Given the description of an element on the screen output the (x, y) to click on. 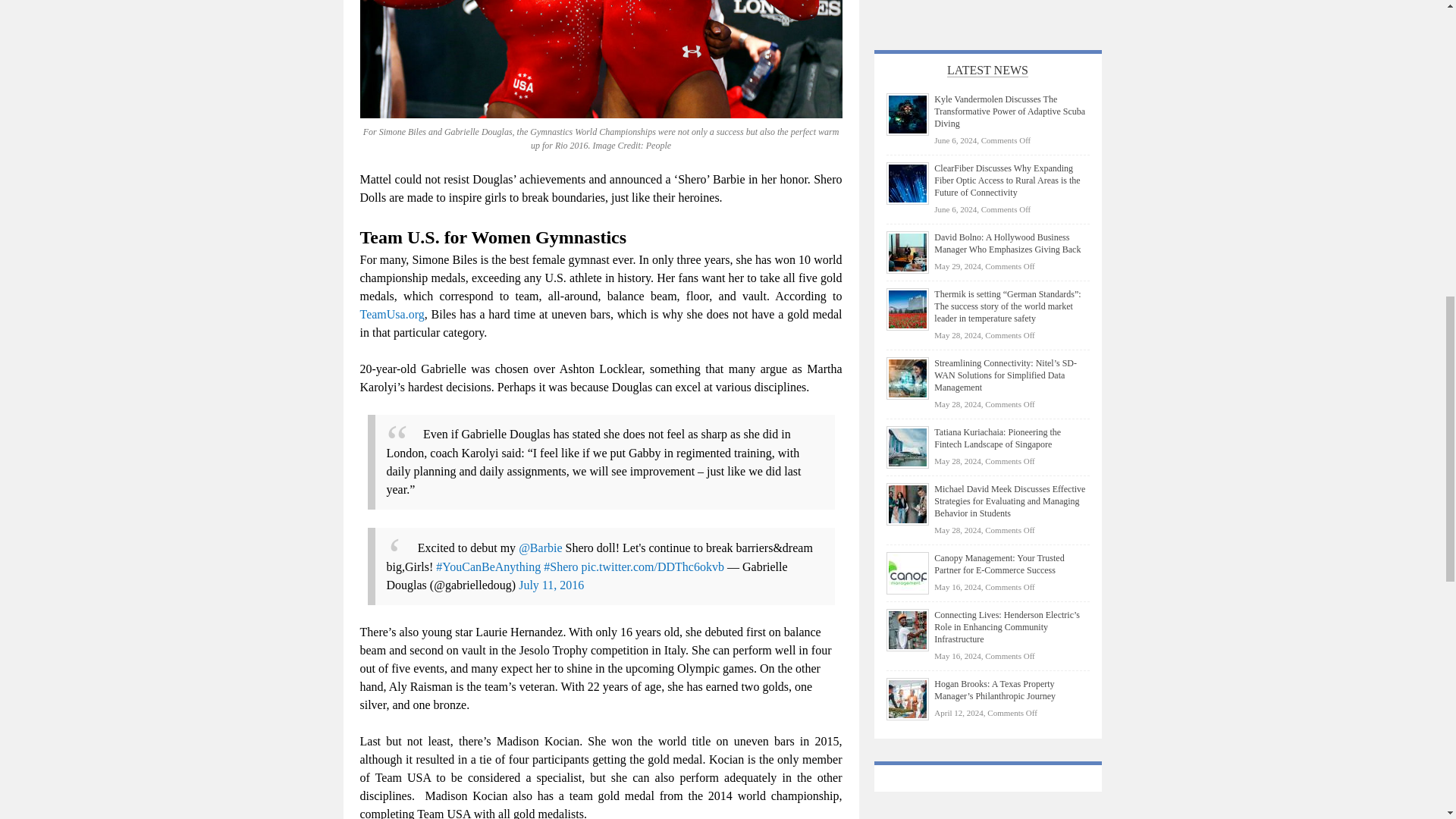
TeamUsa.org (391, 314)
Advertisement (986, 11)
July 11, 2016 (550, 584)
